Given the description of an element on the screen output the (x, y) to click on. 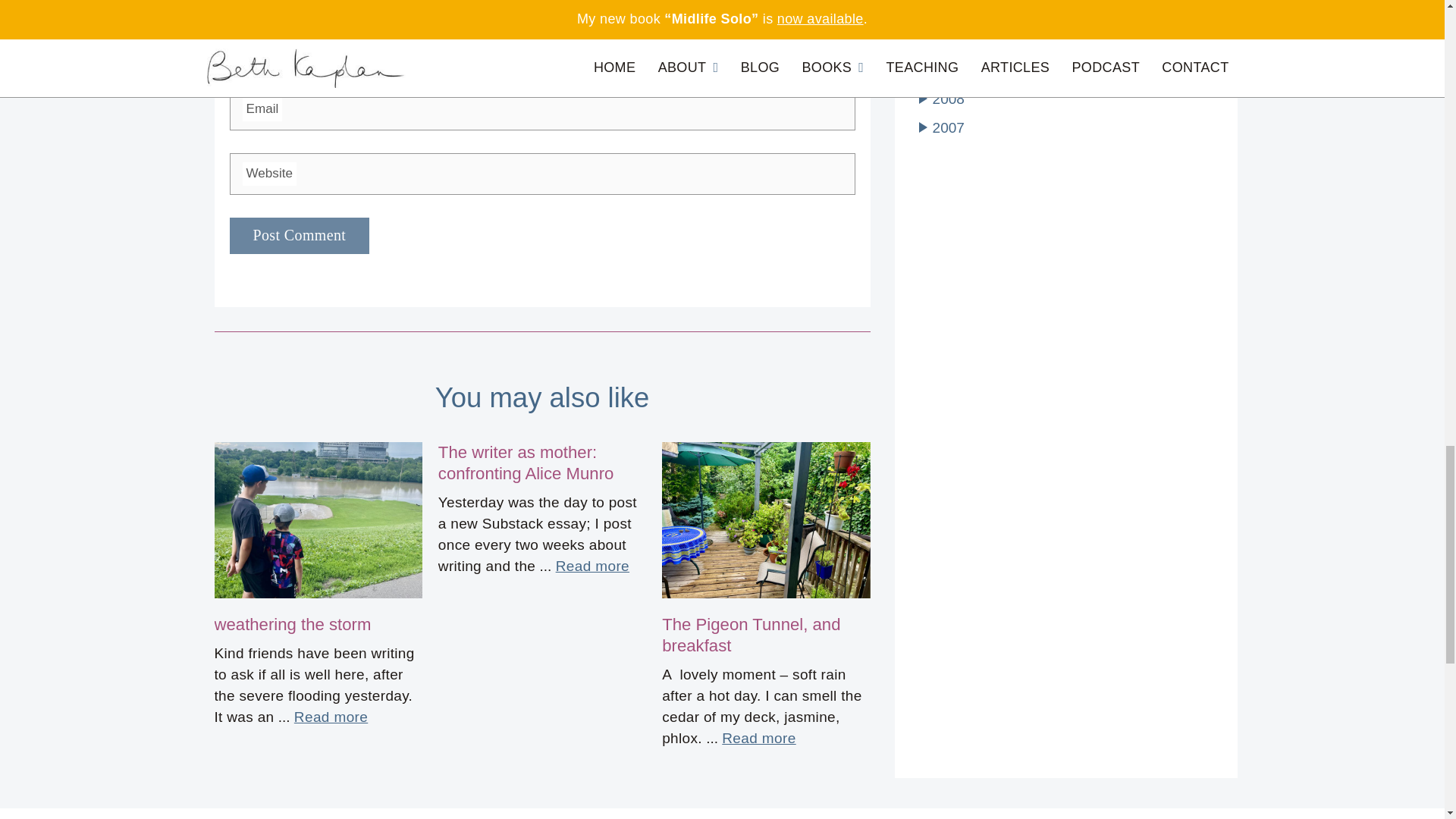
Read more (758, 738)
Read more (592, 566)
The writer as mother: confronting Alice Munro (526, 463)
Post Comment (298, 235)
The Pigeon Tunnel, and breakfast (751, 635)
Read more (331, 717)
Post Comment (298, 235)
weathering the storm (292, 624)
